Given the description of an element on the screen output the (x, y) to click on. 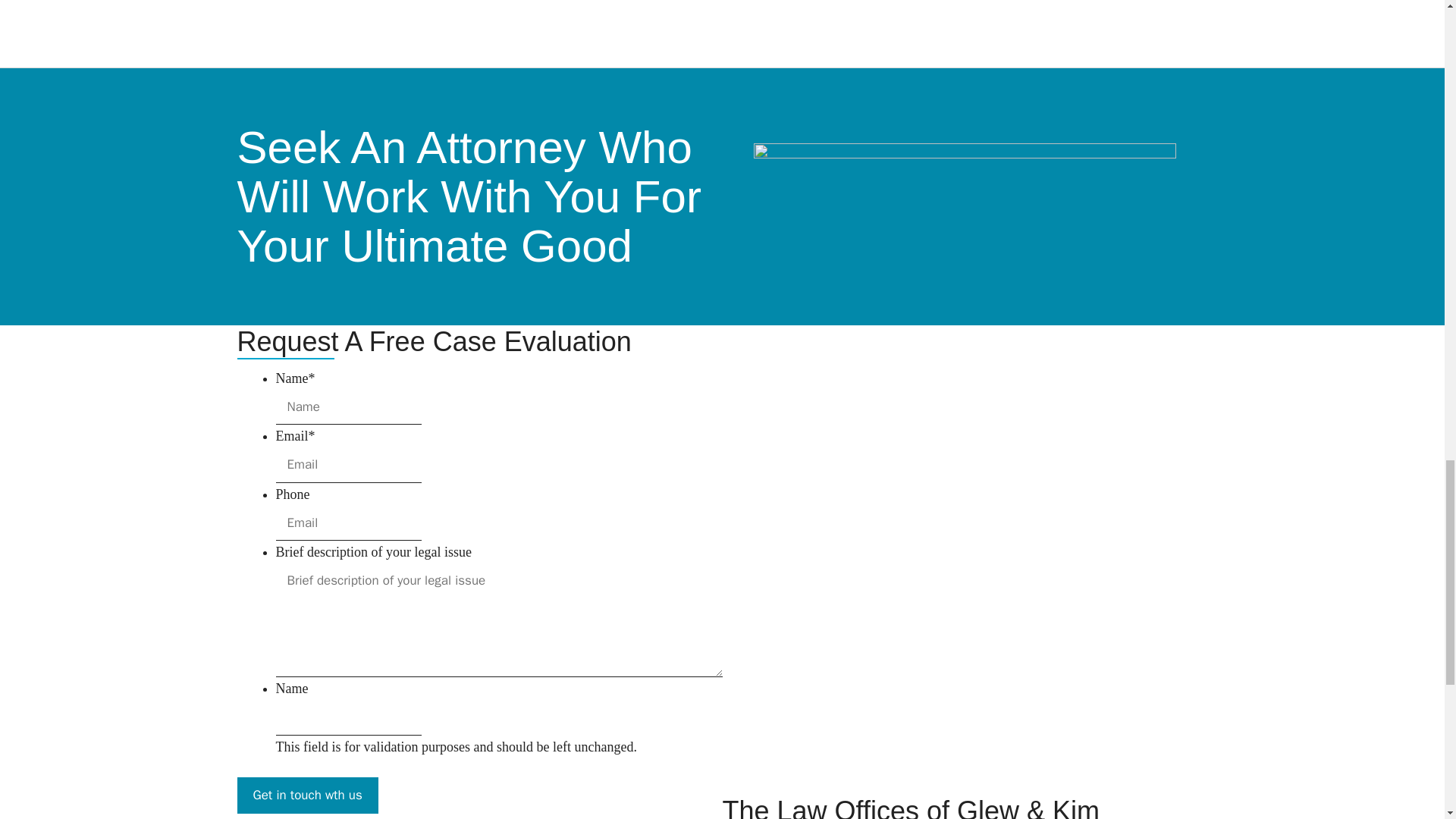
Get in touch wth us (306, 795)
Get in touch wth us (306, 795)
